Given the description of an element on the screen output the (x, y) to click on. 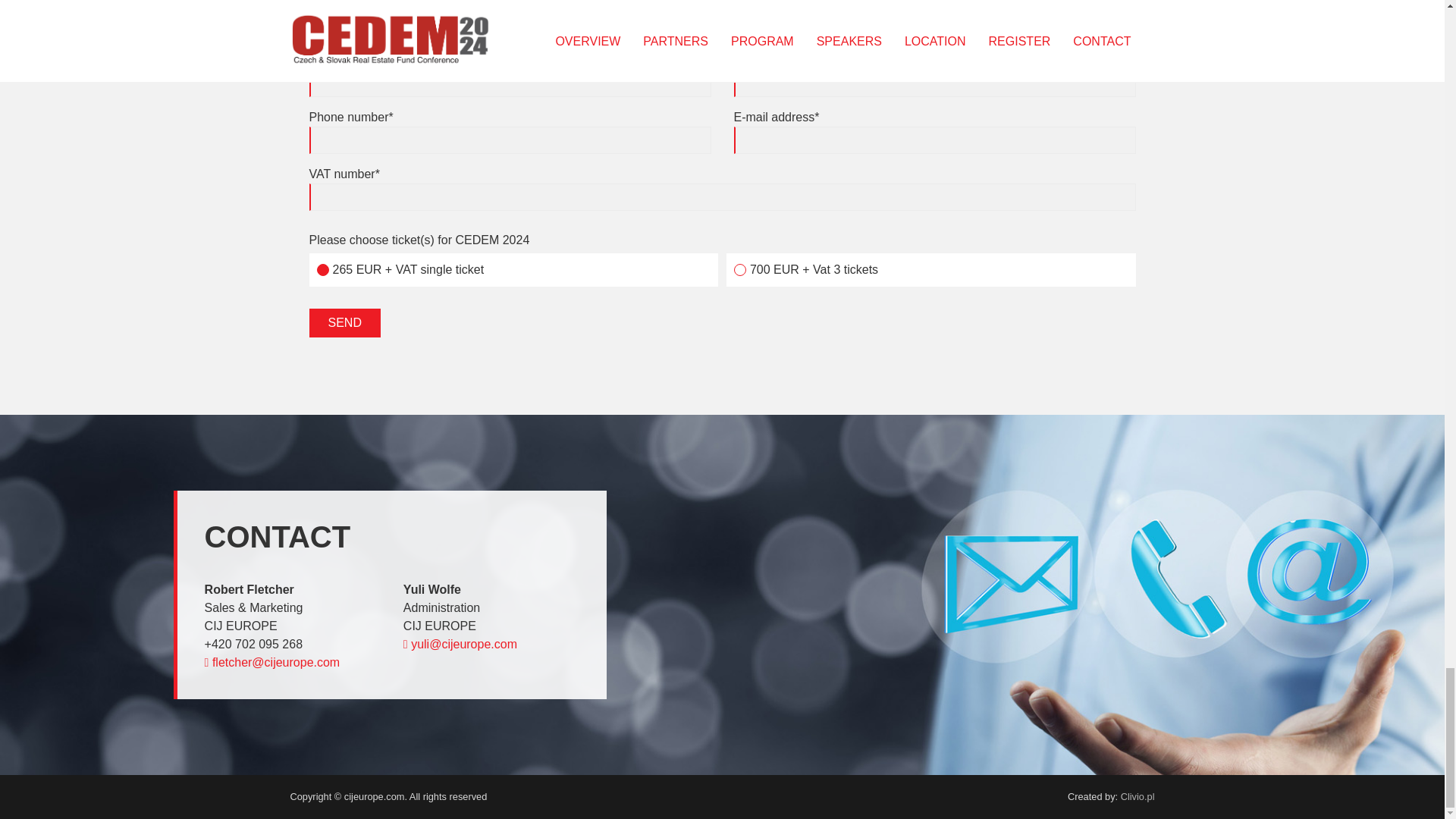
Send (344, 322)
Send (344, 322)
Clivio.pl (1137, 796)
